Given the description of an element on the screen output the (x, y) to click on. 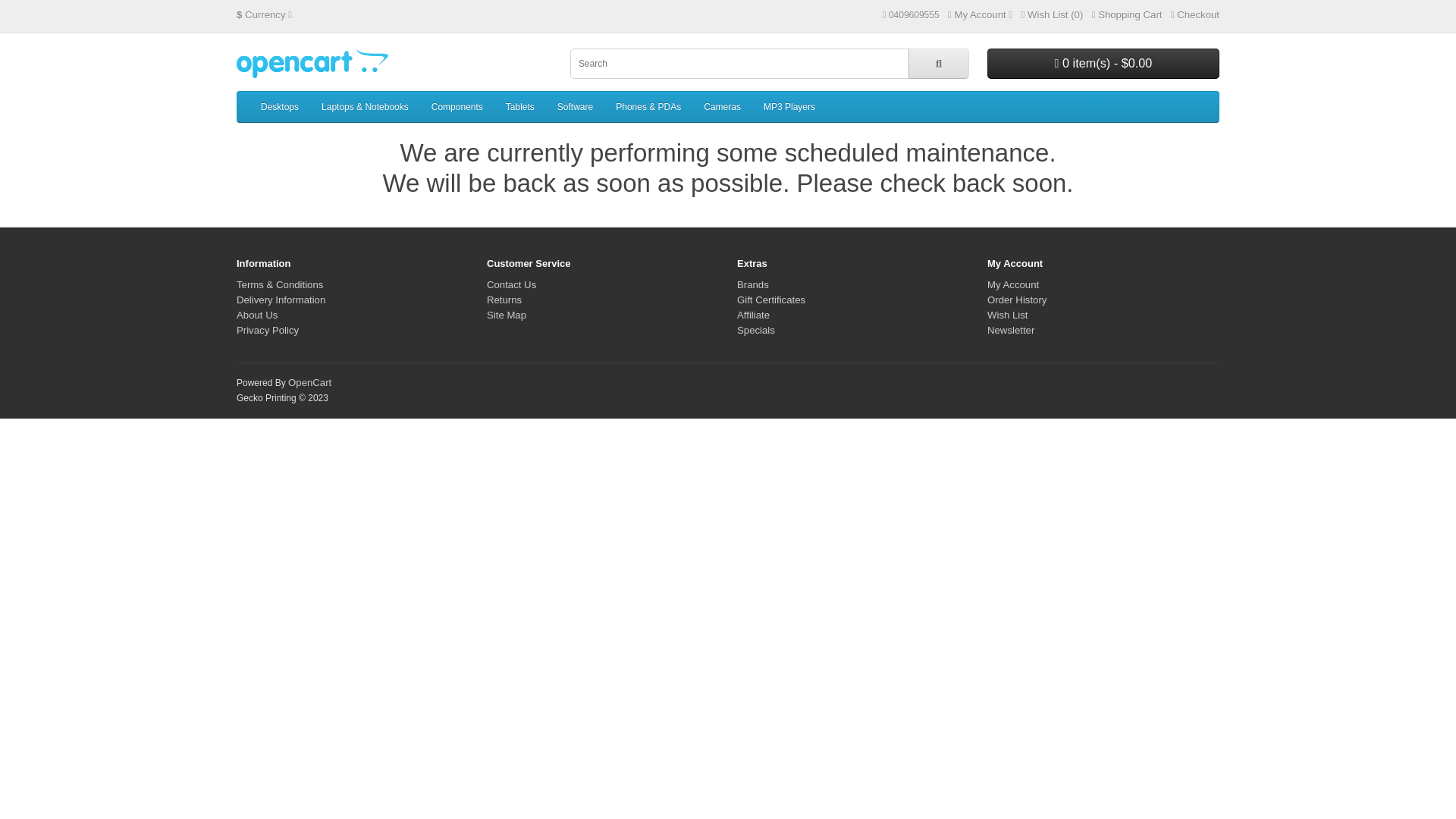
Specials Element type: text (756, 329)
Brands Element type: text (752, 284)
Contact Us Element type: text (511, 284)
OpenCart Element type: text (309, 382)
Terms & Conditions Element type: text (279, 284)
Cameras Element type: text (722, 106)
Returns Element type: text (503, 299)
Wish List (0) Element type: text (1051, 14)
$ Currency Element type: text (263, 14)
Shopping Cart Element type: text (1127, 14)
Components Element type: text (457, 106)
Site Map Element type: text (506, 314)
Gecko Printing Element type: hover (312, 63)
Privacy Policy Element type: text (267, 329)
Tablets Element type: text (520, 106)
Checkout Element type: text (1194, 14)
Wish List Element type: text (1007, 314)
My Account Element type: text (1012, 284)
Desktops Element type: text (279, 106)
Newsletter Element type: text (1010, 329)
0 item(s) - $0.00 Element type: text (1103, 63)
Laptops & Notebooks Element type: text (365, 106)
About Us Element type: text (256, 314)
Affiliate Element type: text (753, 314)
Phones & PDAs Element type: text (648, 106)
My Account Element type: text (979, 14)
Software Element type: text (575, 106)
Gift Certificates Element type: text (771, 299)
Order History Element type: text (1016, 299)
MP3 Players Element type: text (789, 106)
Delivery Information Element type: text (280, 299)
